Given the description of an element on the screen output the (x, y) to click on. 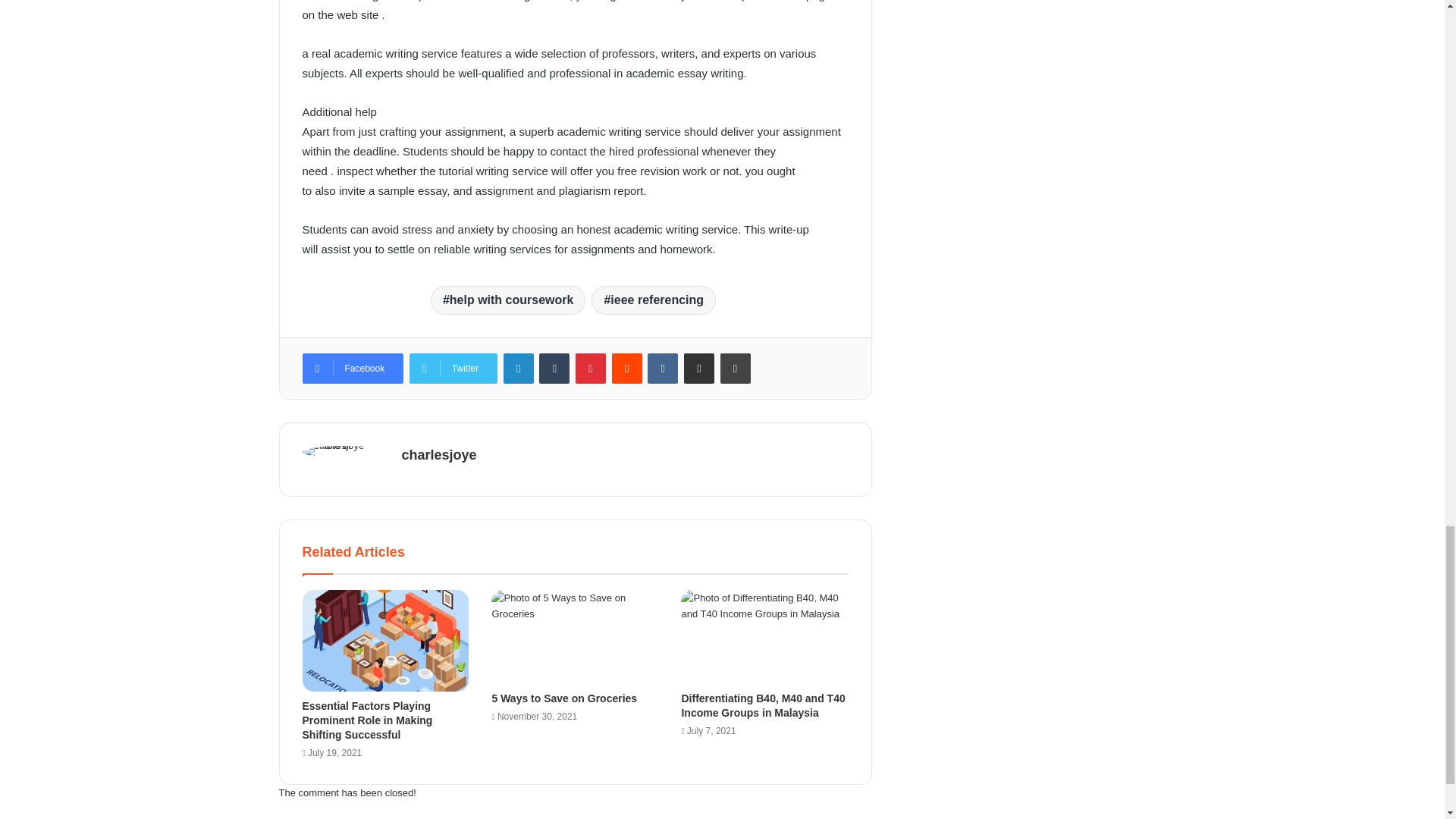
Print (735, 368)
Twitter (453, 368)
LinkedIn (518, 368)
ieee referencing (653, 299)
VKontakte (662, 368)
Facebook (352, 368)
help with coursework (508, 299)
Share via Email (699, 368)
Tumblr (553, 368)
Reddit (626, 368)
Pinterest (590, 368)
